Given the description of an element on the screen output the (x, y) to click on. 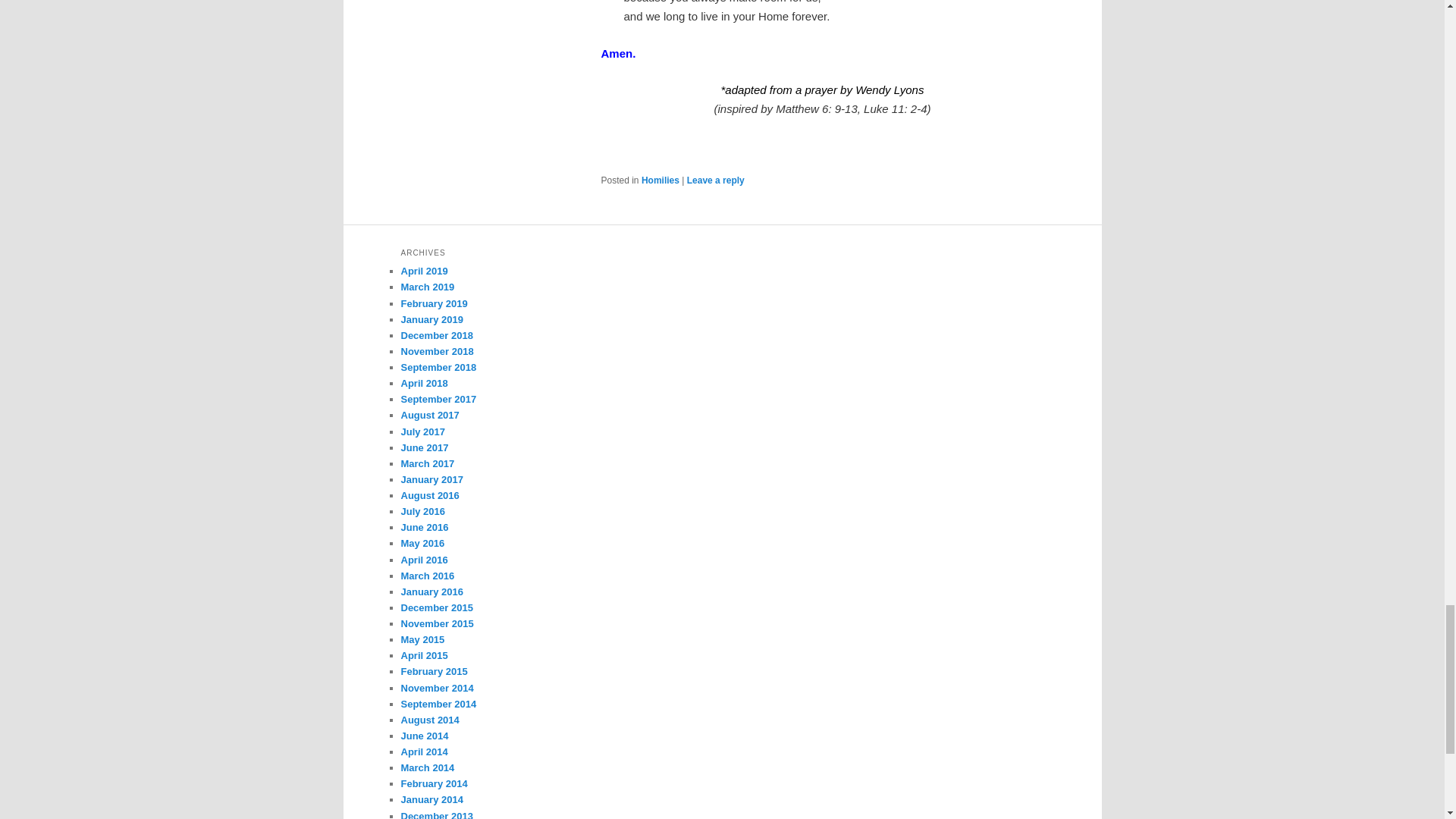
Leave a reply (715, 180)
Homilies (660, 180)
